Given the description of an element on the screen output the (x, y) to click on. 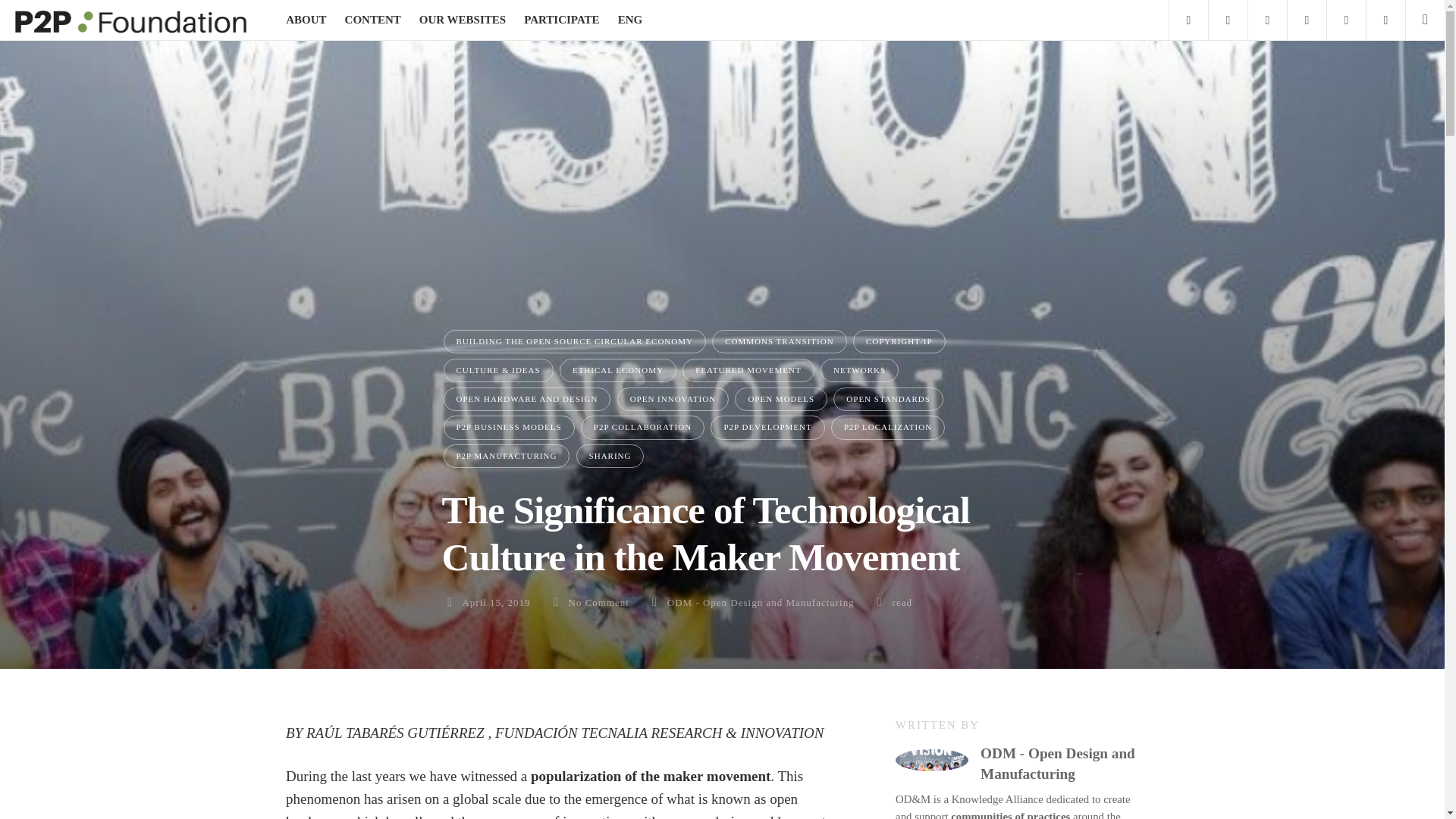
OUR WEBSITES (462, 20)
PARTICIPATE (561, 20)
CONTENT (373, 20)
ABOUT (305, 20)
